Given the description of an element on the screen output the (x, y) to click on. 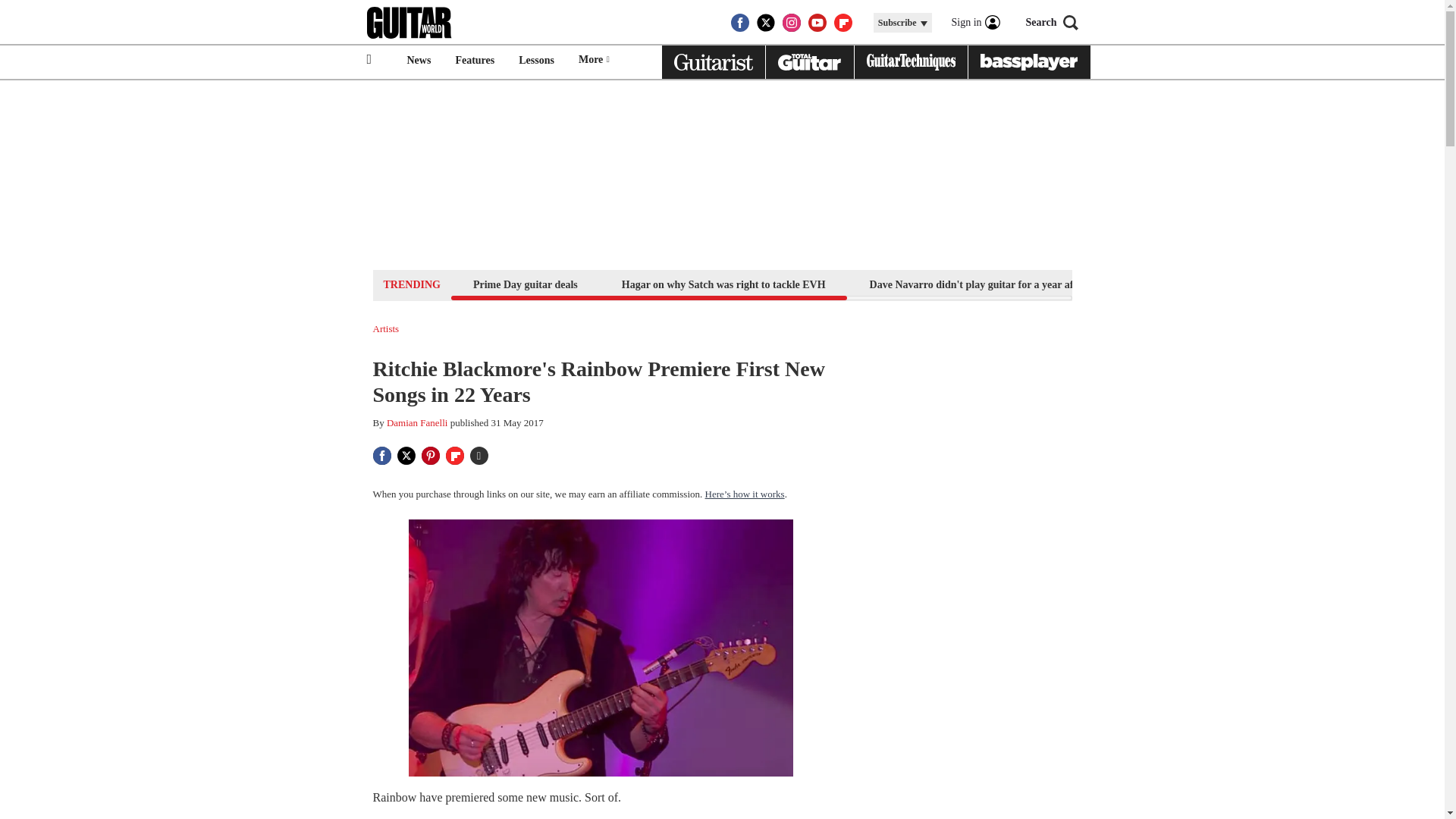
Hagar on why Satch was right to tackle EVH (723, 284)
News (418, 60)
Damian Fanelli (417, 422)
Features (474, 60)
Lessons (536, 60)
Kerry King's Beastie Boys solo regret (1318, 284)
Prime Day guitar deals (525, 284)
